Given the description of an element on the screen output the (x, y) to click on. 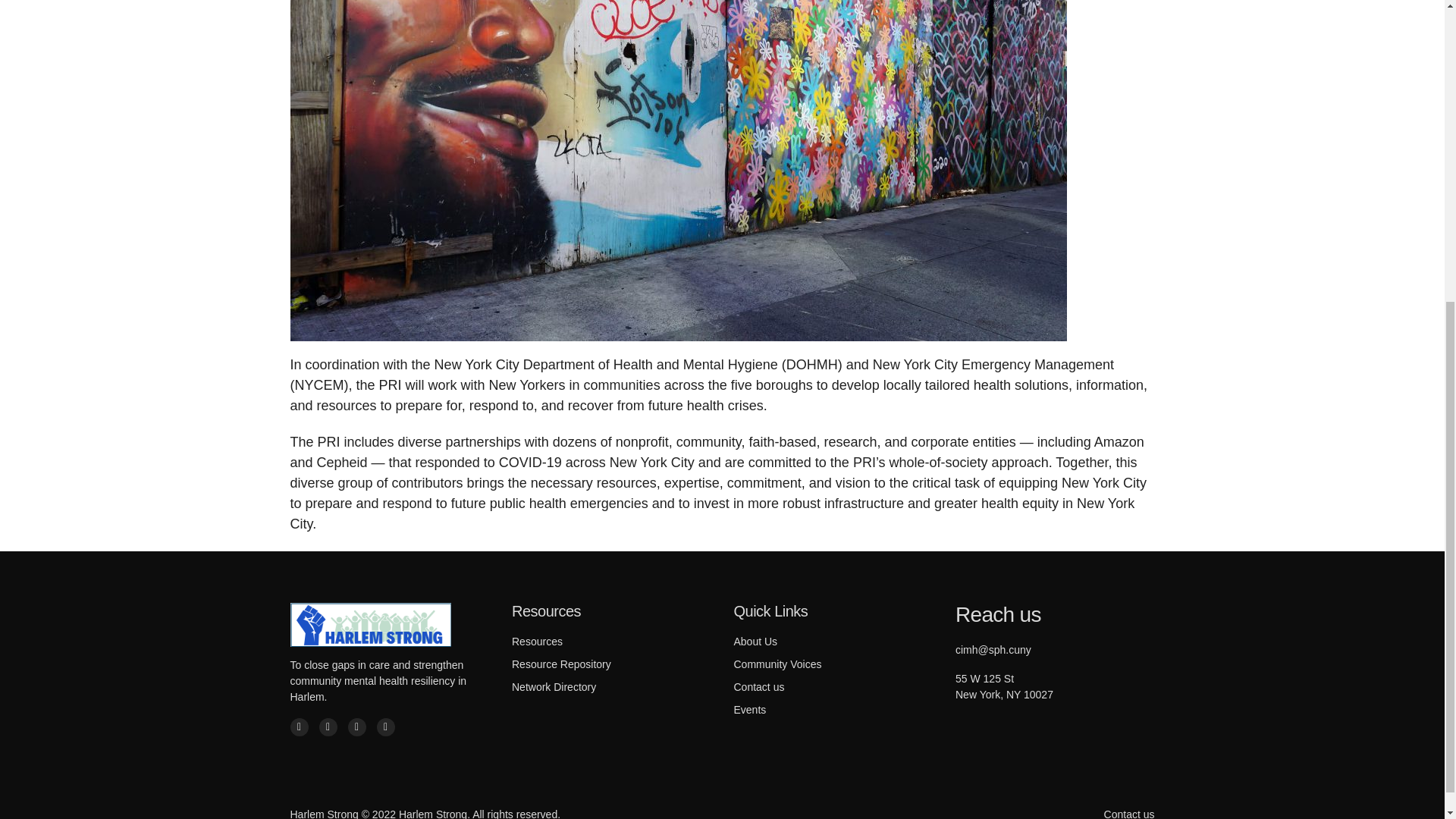
twitter (327, 727)
Resource Repository (561, 664)
Community Voices (777, 664)
Network Directory (553, 686)
Events (750, 709)
facebook (298, 727)
Resources (537, 641)
Contact us (758, 686)
About Us (755, 641)
linkedin (384, 727)
instagram (356, 727)
